Given the description of an element on the screen output the (x, y) to click on. 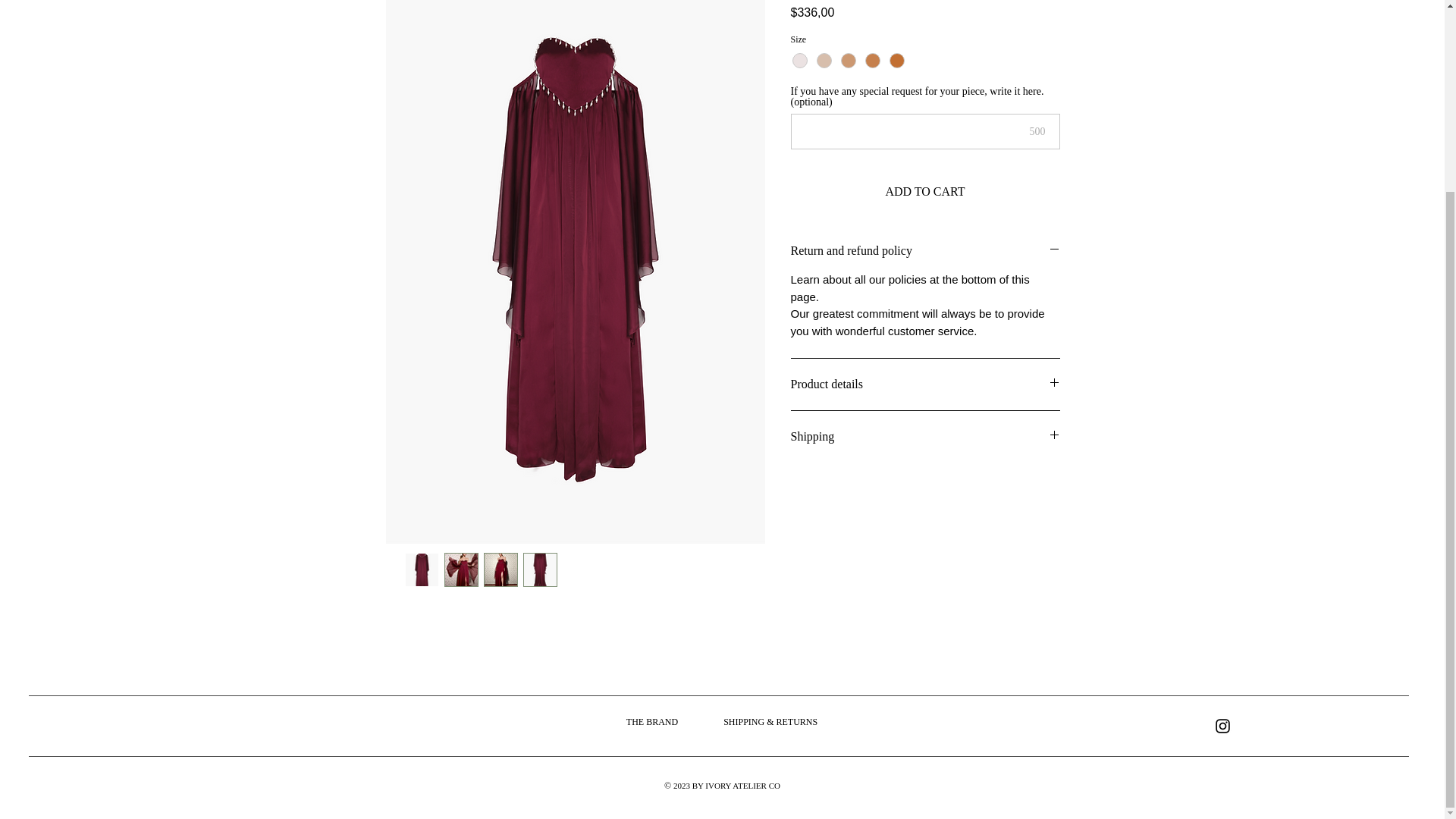
ADD TO CART (924, 191)
THE BRAND  (652, 721)
Shipping (924, 436)
Return and refund policy (924, 250)
Product details (924, 384)
